Given the description of an element on the screen output the (x, y) to click on. 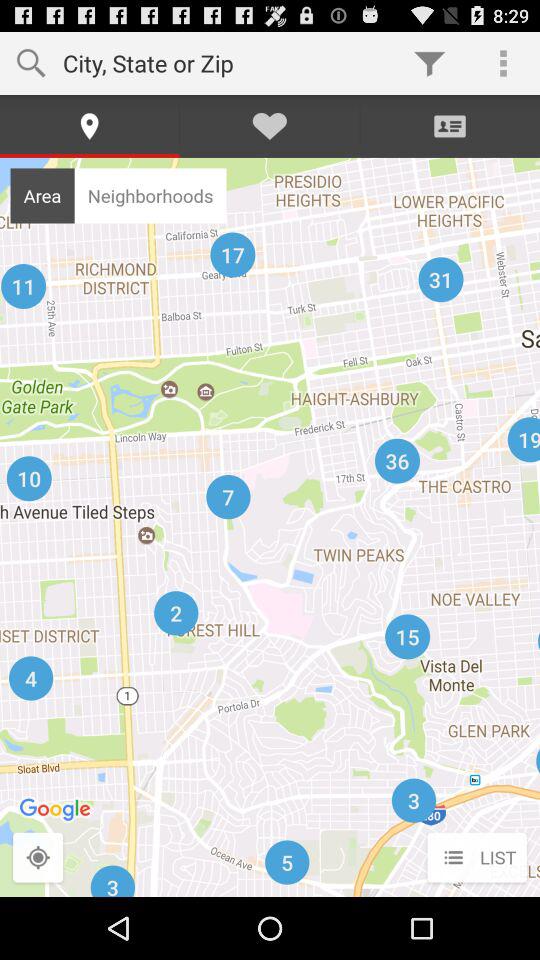
choose item at the bottom right corner (476, 858)
